Given the description of an element on the screen output the (x, y) to click on. 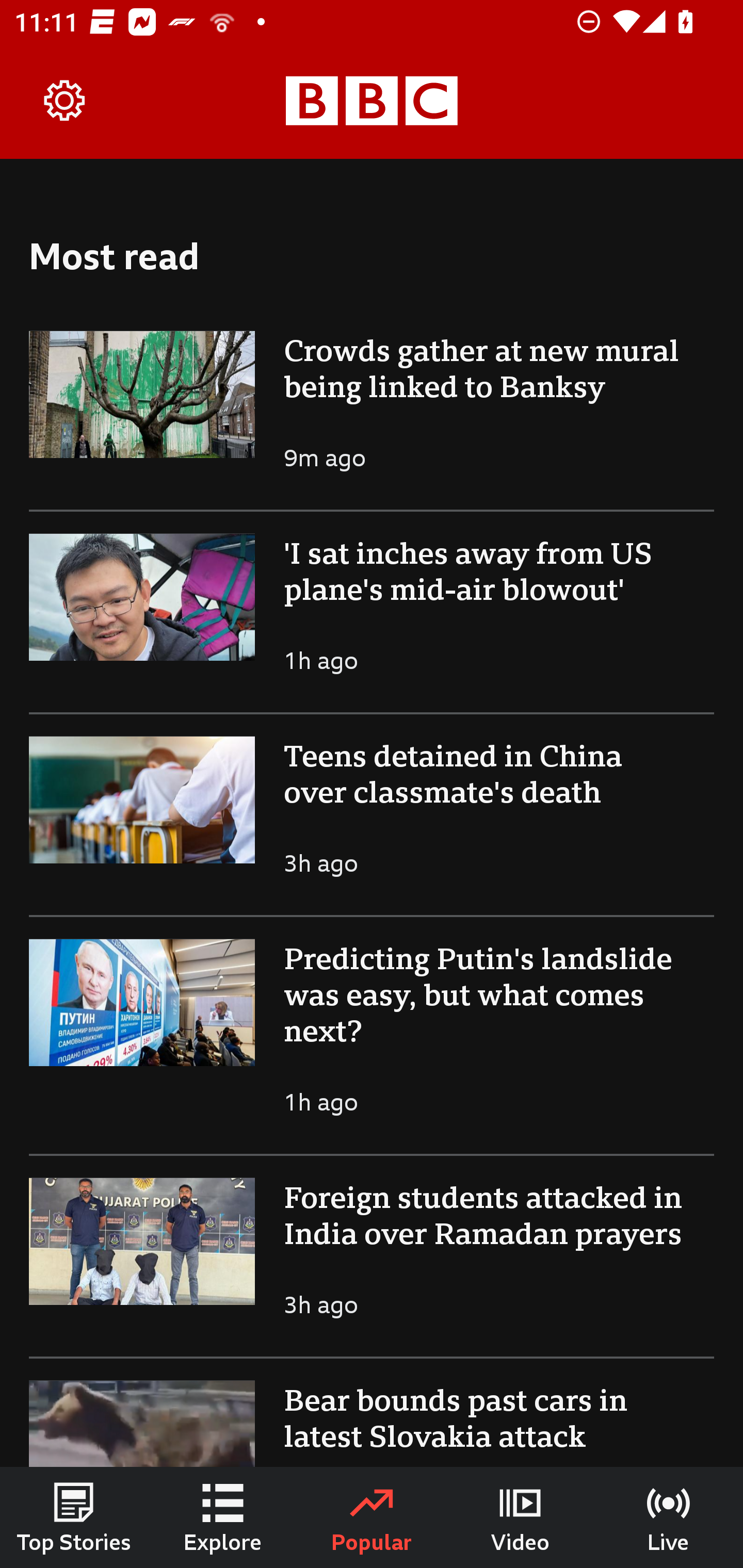
Settings (64, 100)
Top Stories (74, 1517)
Explore (222, 1517)
Video (519, 1517)
Live (668, 1517)
